Given the description of an element on the screen output the (x, y) to click on. 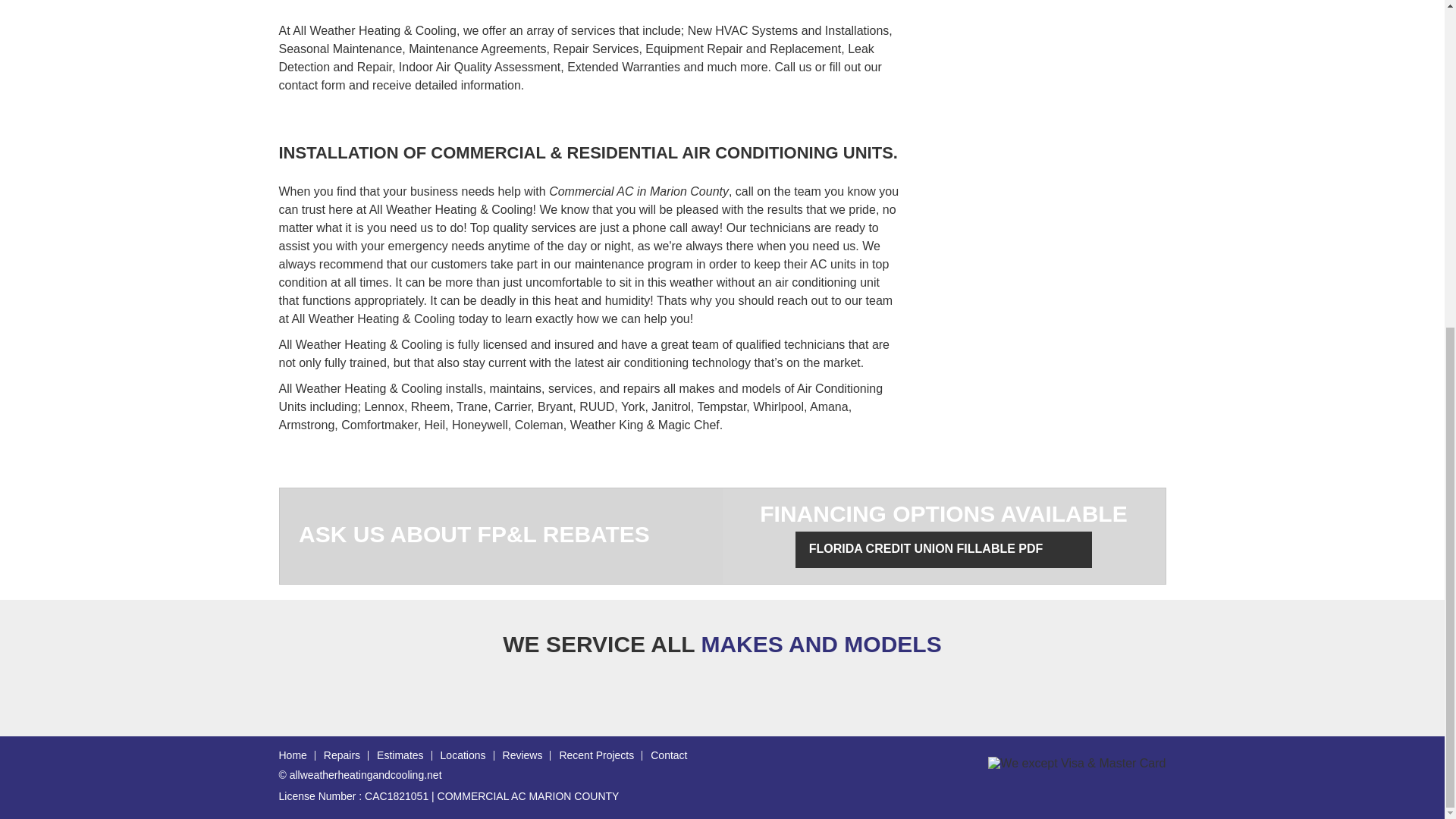
Home (293, 755)
FLORIDA CREDIT UNION FILLABLE PDF (943, 549)
Repairs (341, 755)
